Given the description of an element on the screen output the (x, y) to click on. 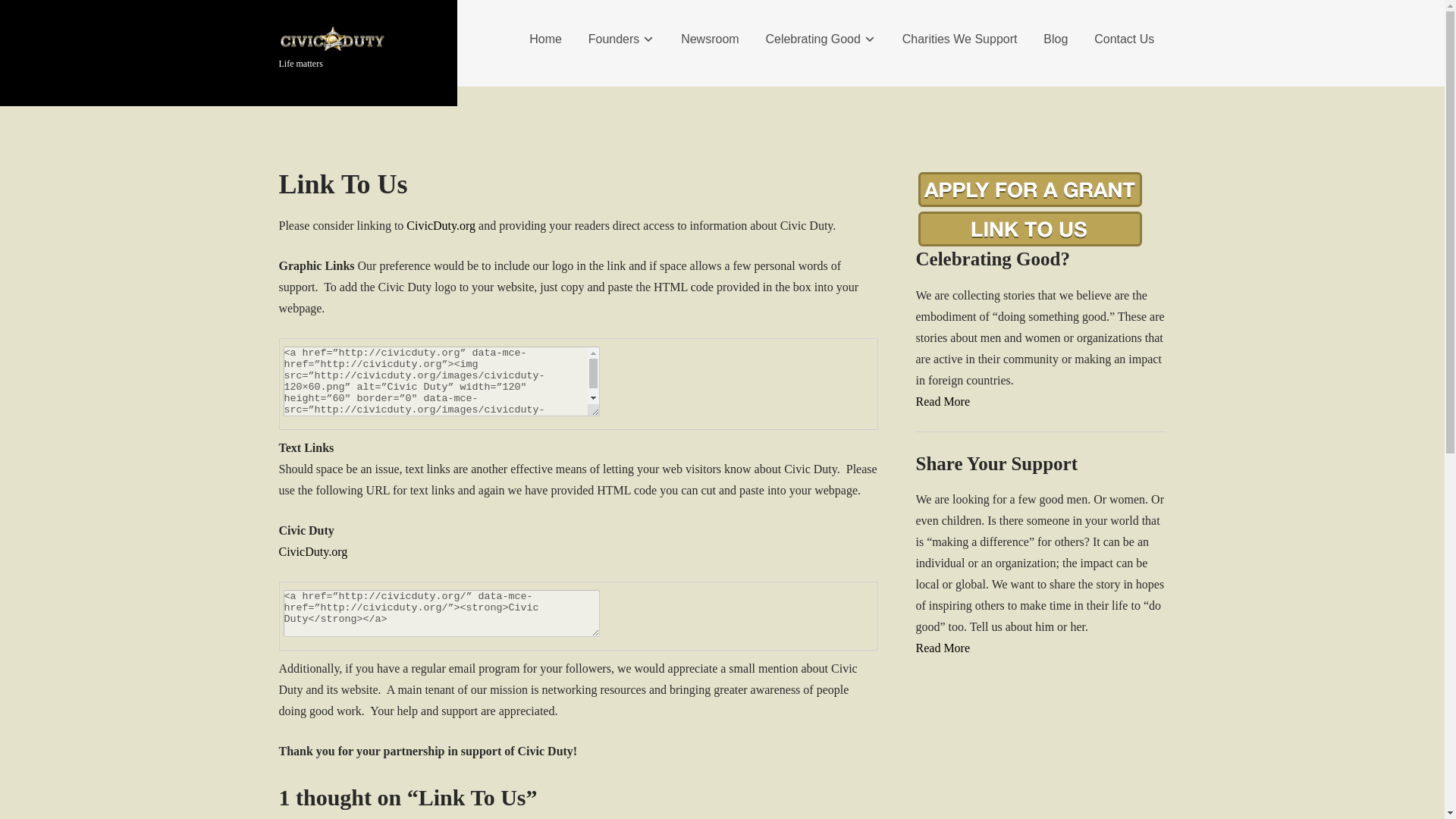
Newsroom (710, 39)
Contact Us (1124, 39)
Blog (1055, 39)
CivicDuty.org (441, 225)
Read More (943, 647)
Founders (621, 39)
Home (545, 39)
Celebrating Good (820, 39)
Read More (943, 400)
Charities We Support (960, 39)
